Given the description of an element on the screen output the (x, y) to click on. 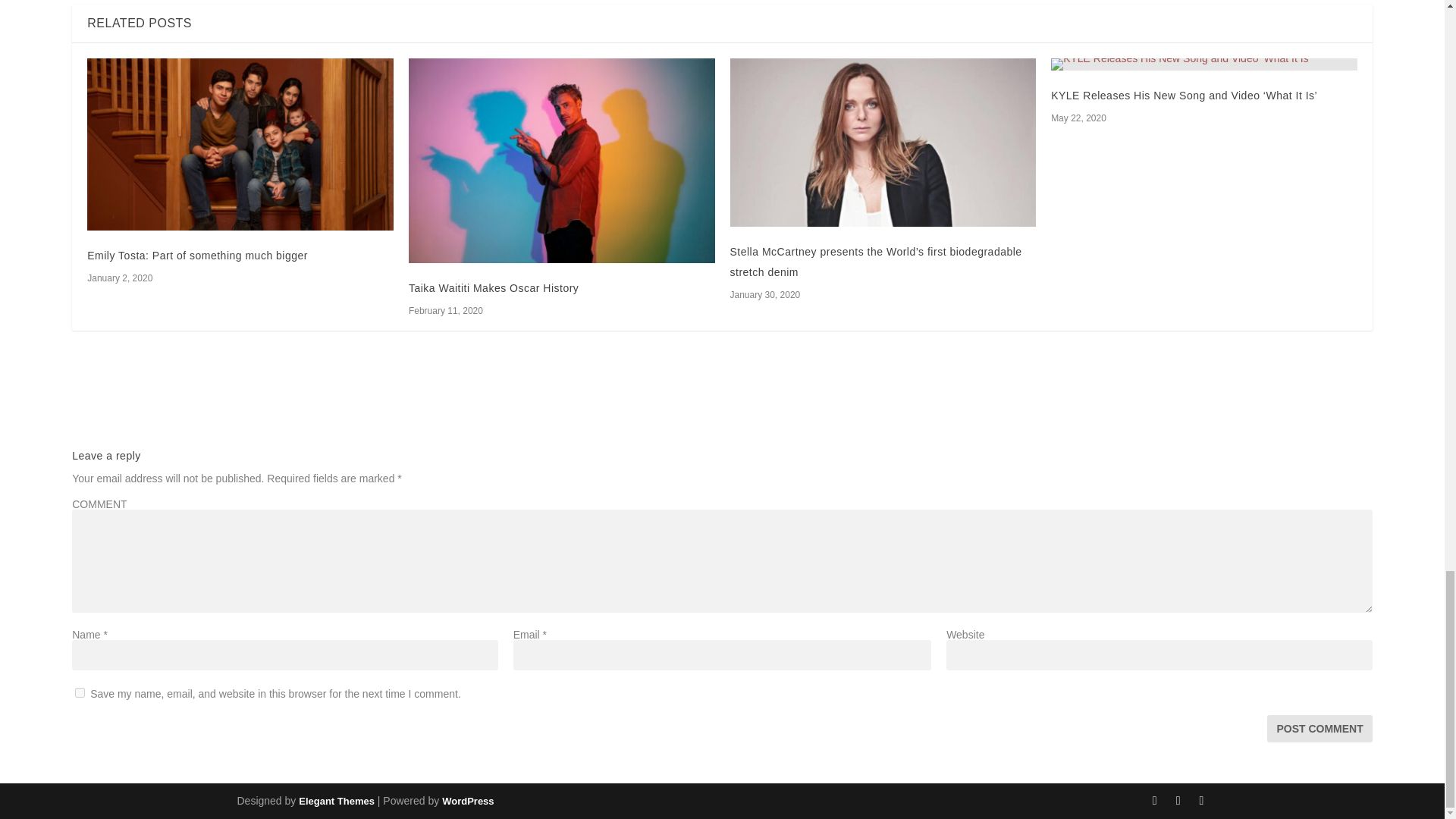
Emily Tosta: Part of something much bigger (197, 255)
Emily Tosta: Part of something much bigger (240, 144)
Taika Waititi Makes Oscar History (561, 160)
Post Comment (1318, 728)
Post Comment (1318, 728)
WordPress (467, 800)
Taika Waititi Makes Oscar History (493, 287)
yes (79, 692)
Elegant Themes (336, 800)
